Given the description of an element on the screen output the (x, y) to click on. 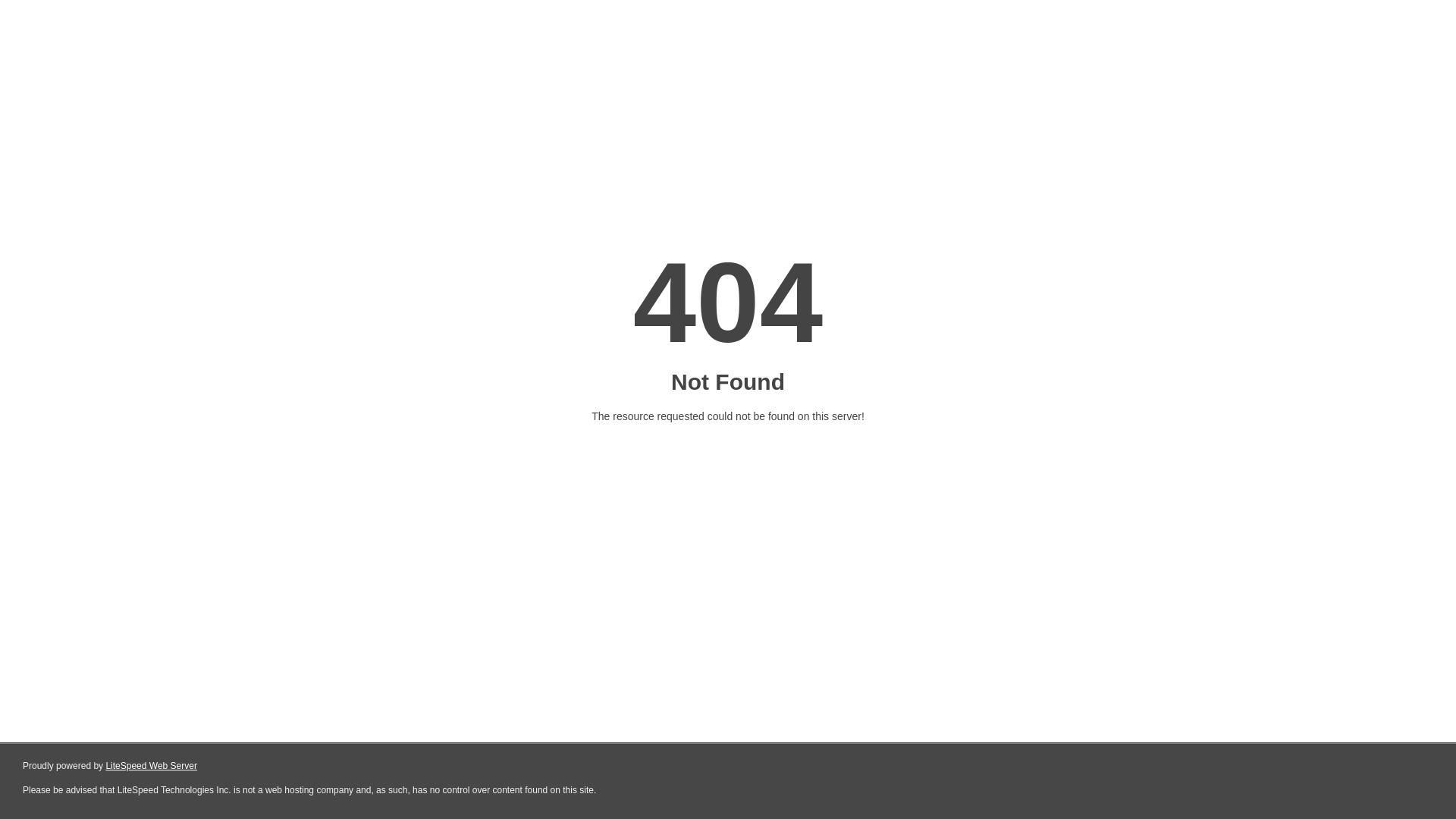
LiteSpeed Web Server Element type: text (151, 765)
